Given the description of an element on the screen output the (x, y) to click on. 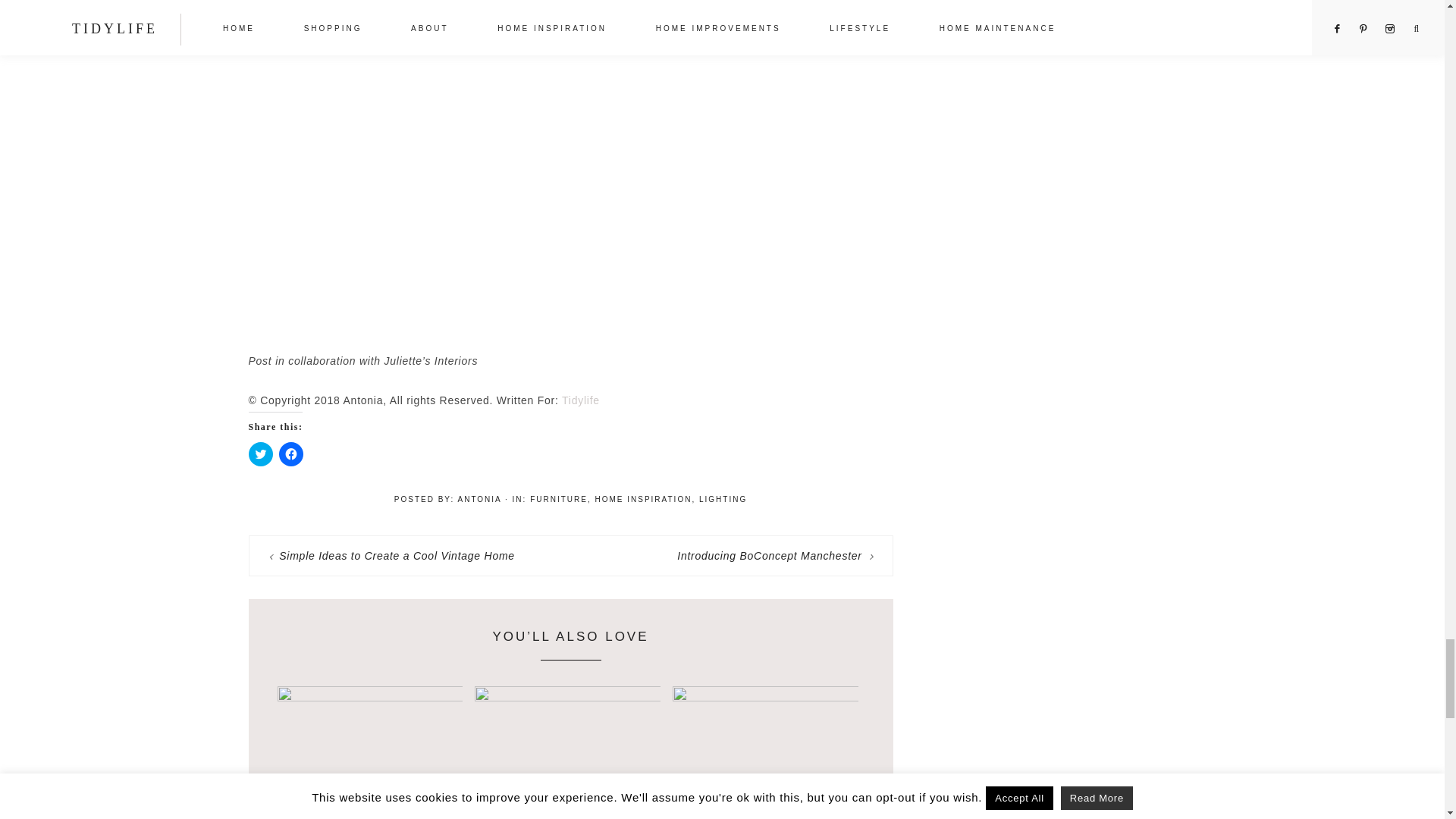
Click to share on Twitter (260, 454)
Click to share on Facebook (290, 454)
